Given the description of an element on the screen output the (x, y) to click on. 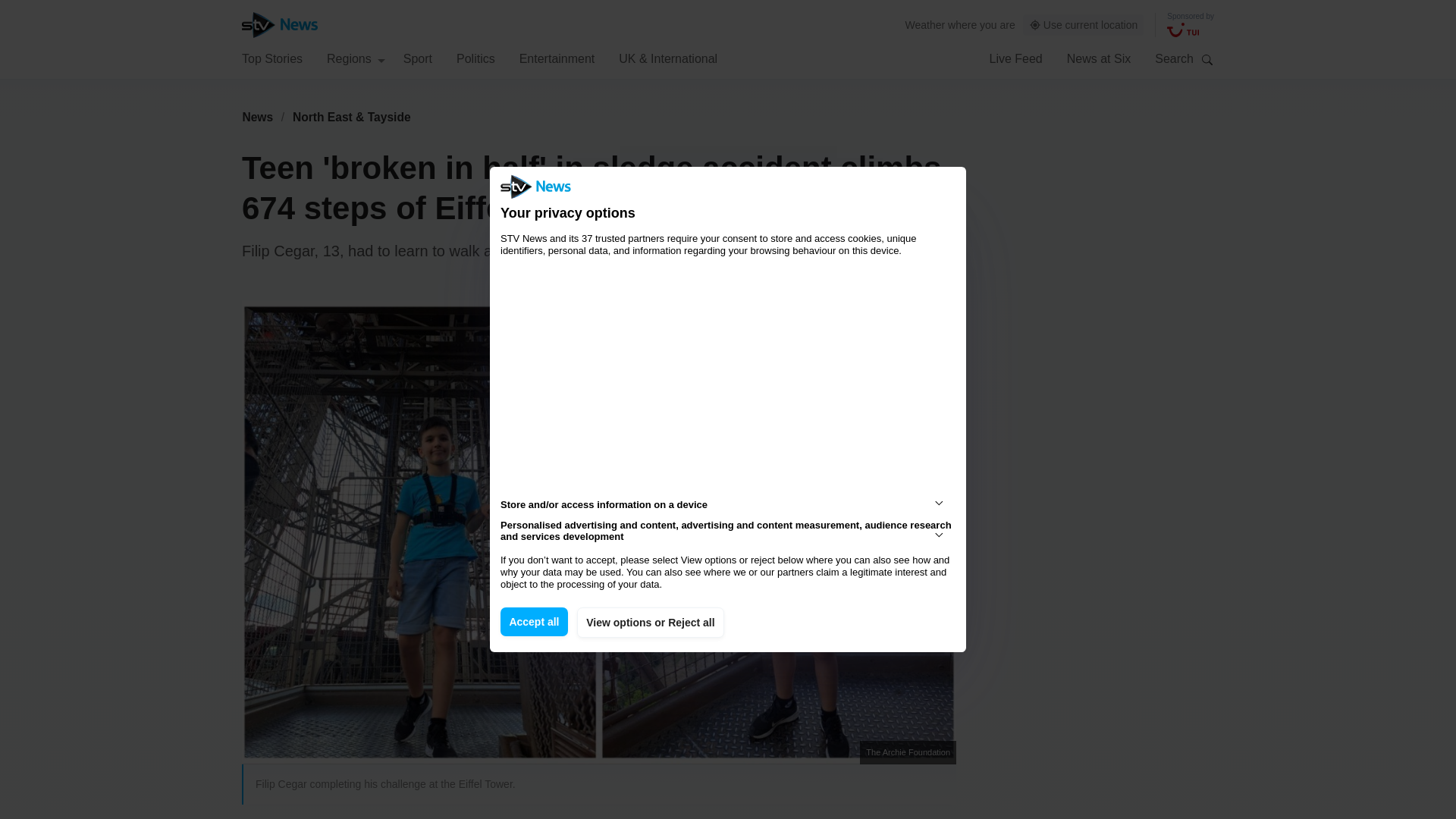
Politics (476, 57)
Search (1206, 59)
Use current location (1083, 25)
Weather (924, 24)
Regions (355, 57)
Live Feed (1015, 57)
News at Six (1099, 57)
Top Stories (271, 57)
Entertainment (557, 57)
